Given the description of an element on the screen output the (x, y) to click on. 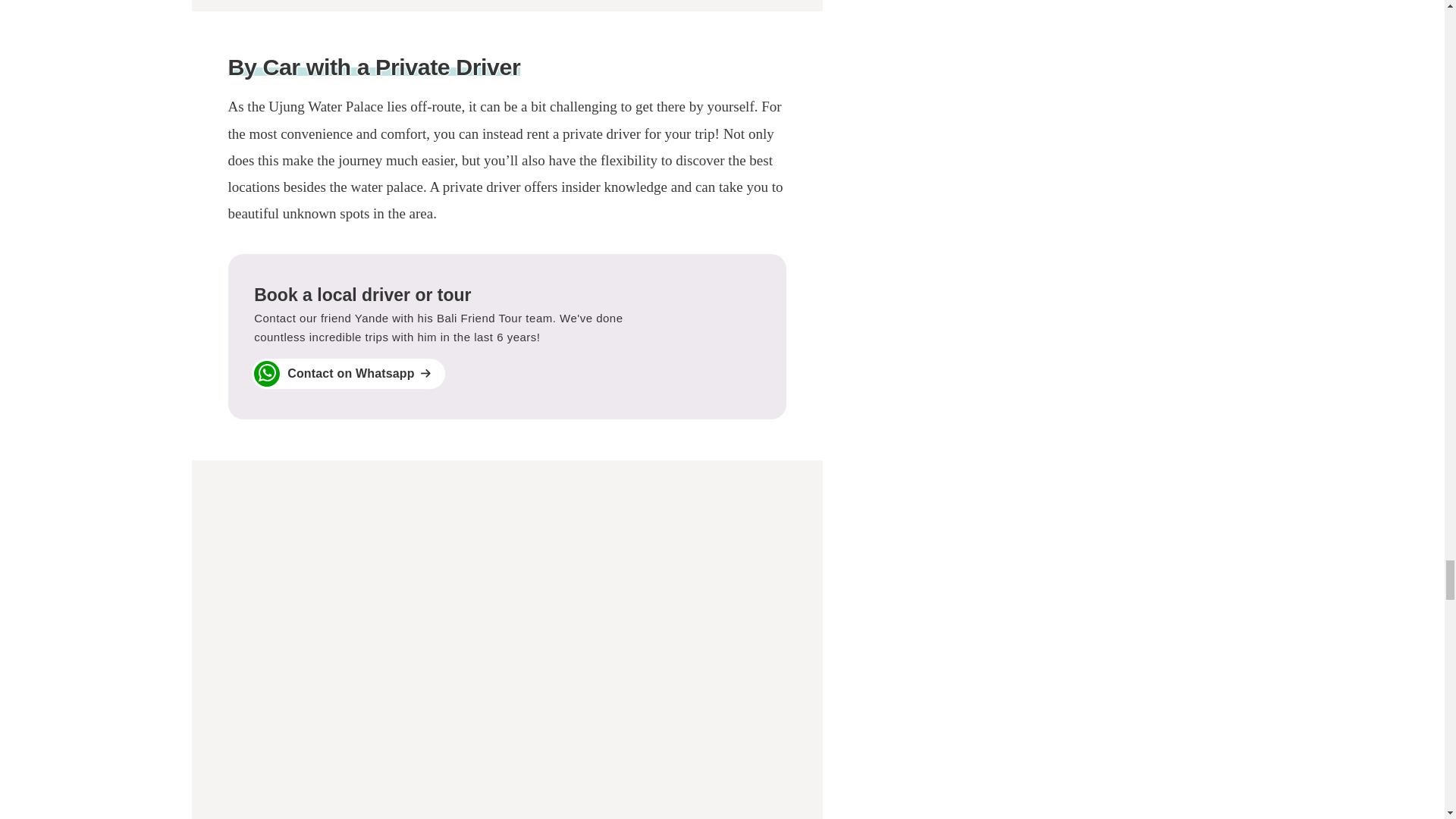
Contact Yande of Bali Friend Tour (506, 335)
By Car with a Private Driver (373, 66)
